Given the description of an element on the screen output the (x, y) to click on. 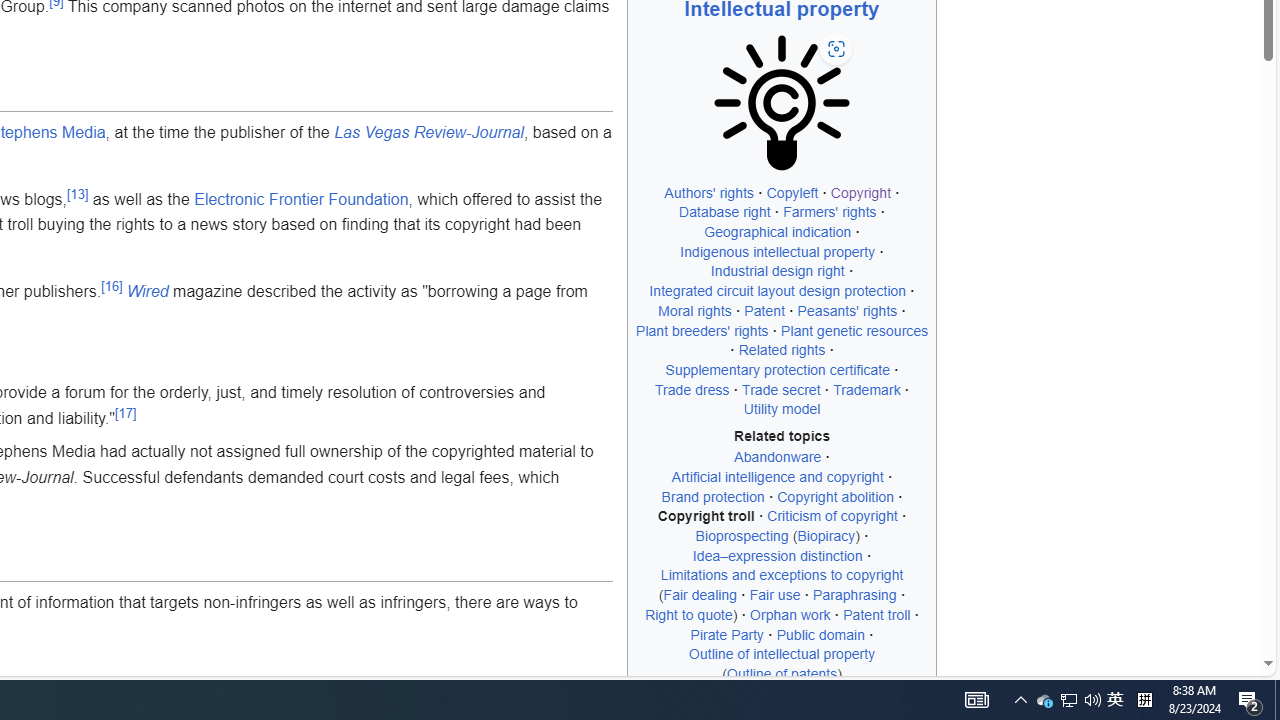
Integrated circuit layout design protection (777, 291)
Indigenous intellectual property (777, 251)
[16] (111, 287)
Related topics (781, 436)
Abandonware (777, 457)
Fair dealing (700, 595)
Peasants' rights (847, 309)
Patent troll (877, 614)
Geographical indication (778, 232)
